Given the description of an element on the screen output the (x, y) to click on. 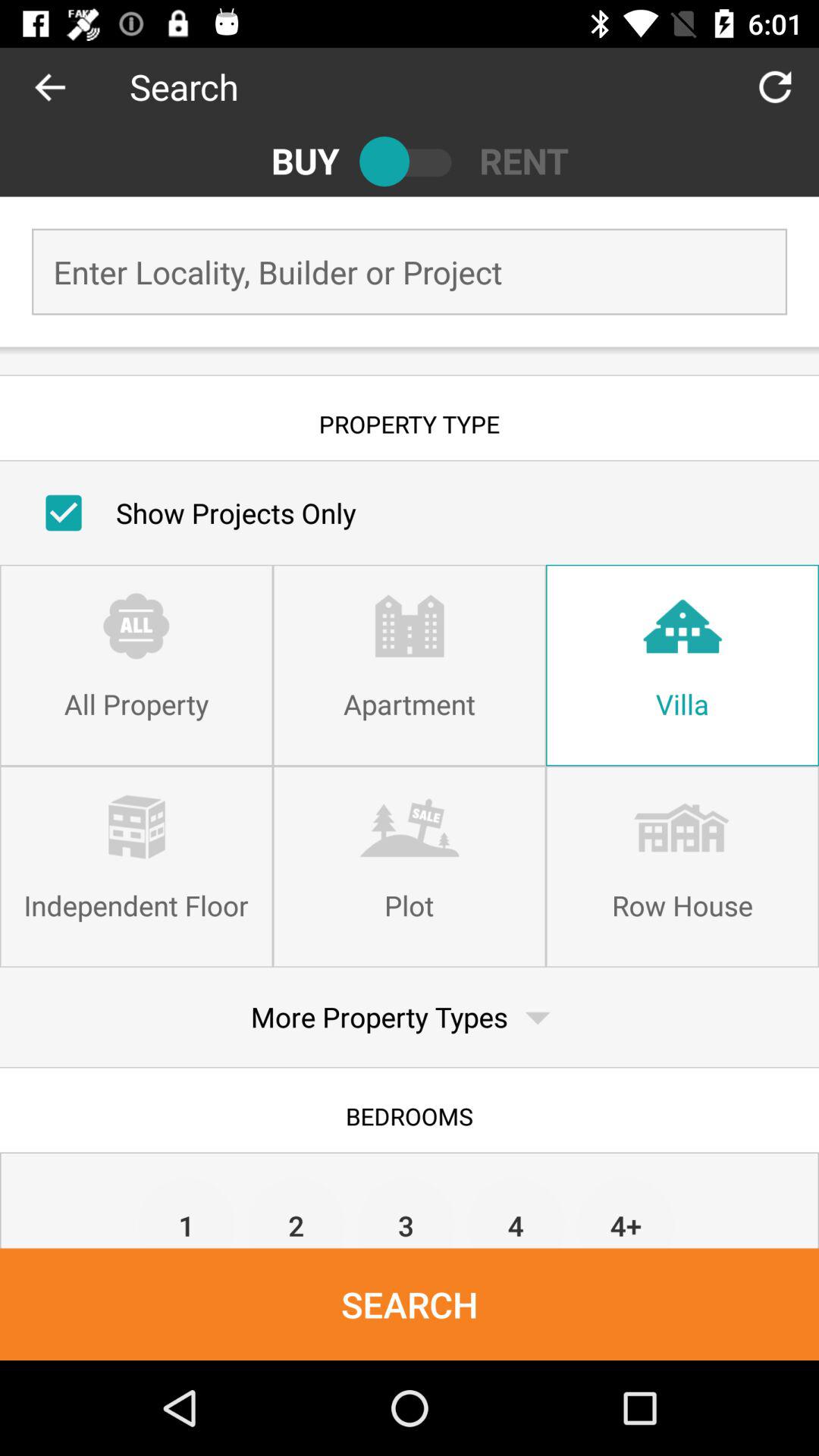
choose item next to the 2 item (406, 1212)
